Given the description of an element on the screen output the (x, y) to click on. 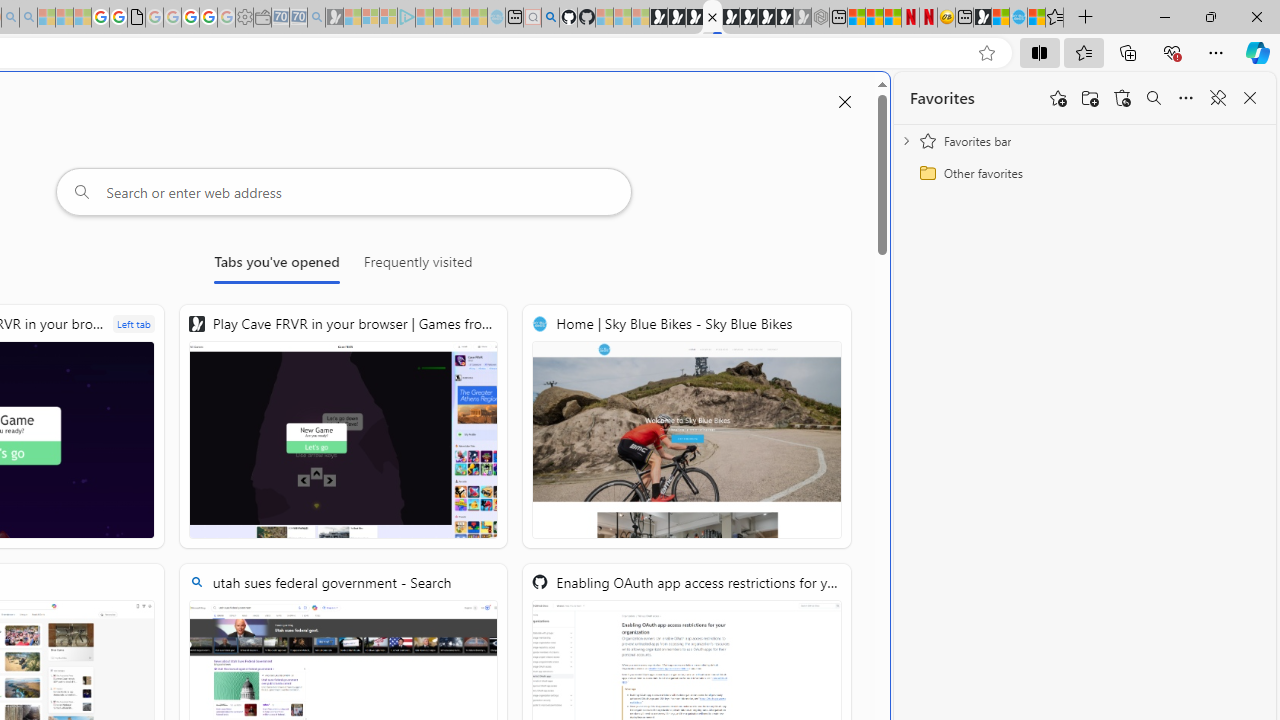
Play Cave FRVR in your browser | Games from Microsoft Start (343, 426)
Search or enter web address (343, 191)
Frequently visited (418, 265)
